Given the description of an element on the screen output the (x, y) to click on. 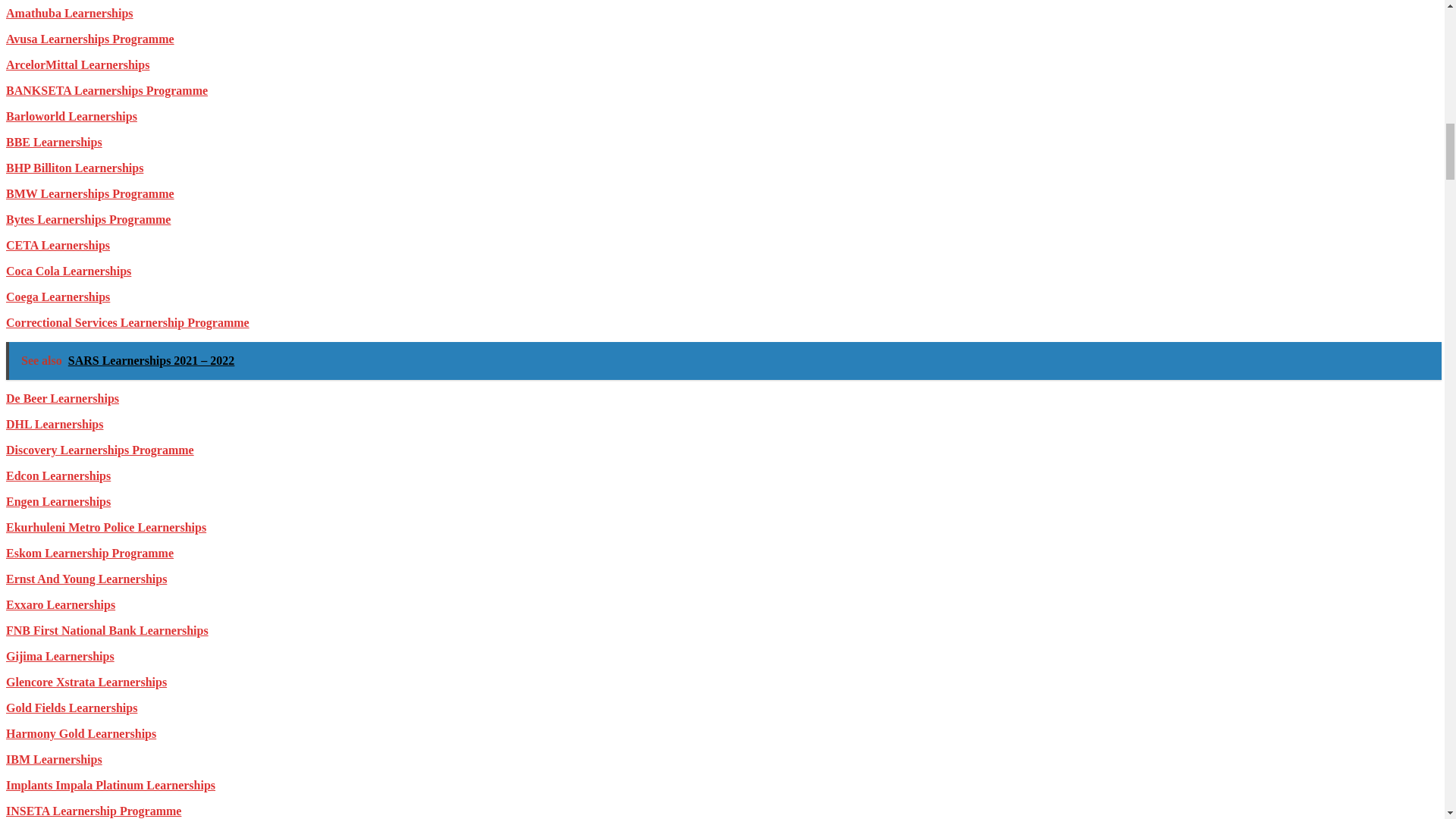
BHP Billiton Learnerships (73, 167)
BMW Learnerships Programme (89, 193)
BBE Learnerships (53, 141)
Bytes Learnerships Programme (87, 219)
ArcelorMittal Learnerships (77, 64)
Correctional Services Learnership Programme (126, 322)
Avusa Learnerships Programme (89, 38)
Amathuba Learnerships (69, 12)
Coega Learnerships (57, 296)
BANKSETA Learnerships Programme (106, 90)
Barloworld Learnerships (70, 115)
CETA Learnerships (57, 245)
Coca Cola Learnerships (68, 270)
